Given the description of an element on the screen output the (x, y) to click on. 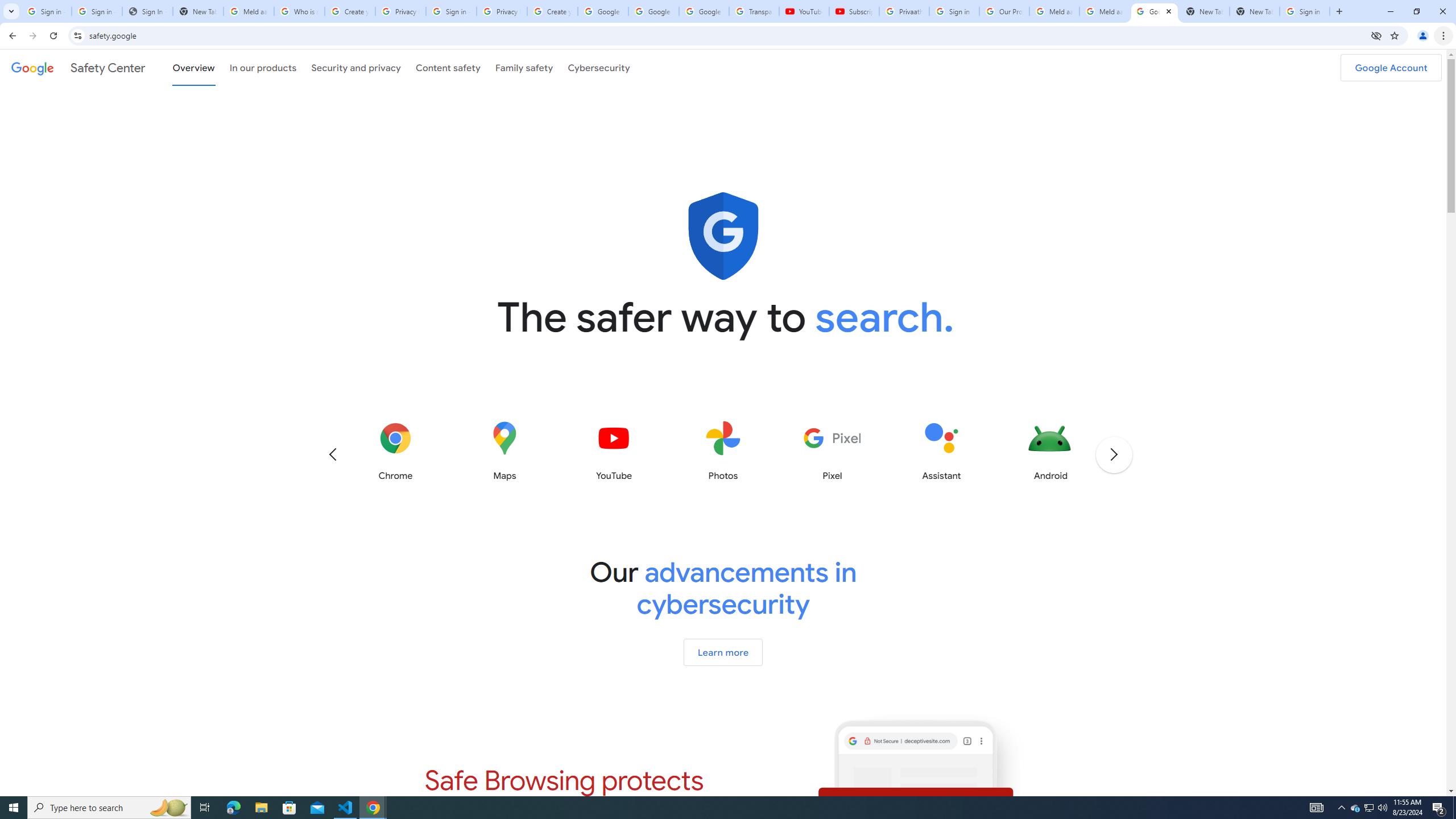
YouTube (804, 11)
Learn more (722, 651)
Sign in - Google Accounts (97, 11)
Google Account (703, 11)
Cybersecurity (598, 67)
Sign in - Google Accounts (450, 11)
